Given the description of an element on the screen output the (x, y) to click on. 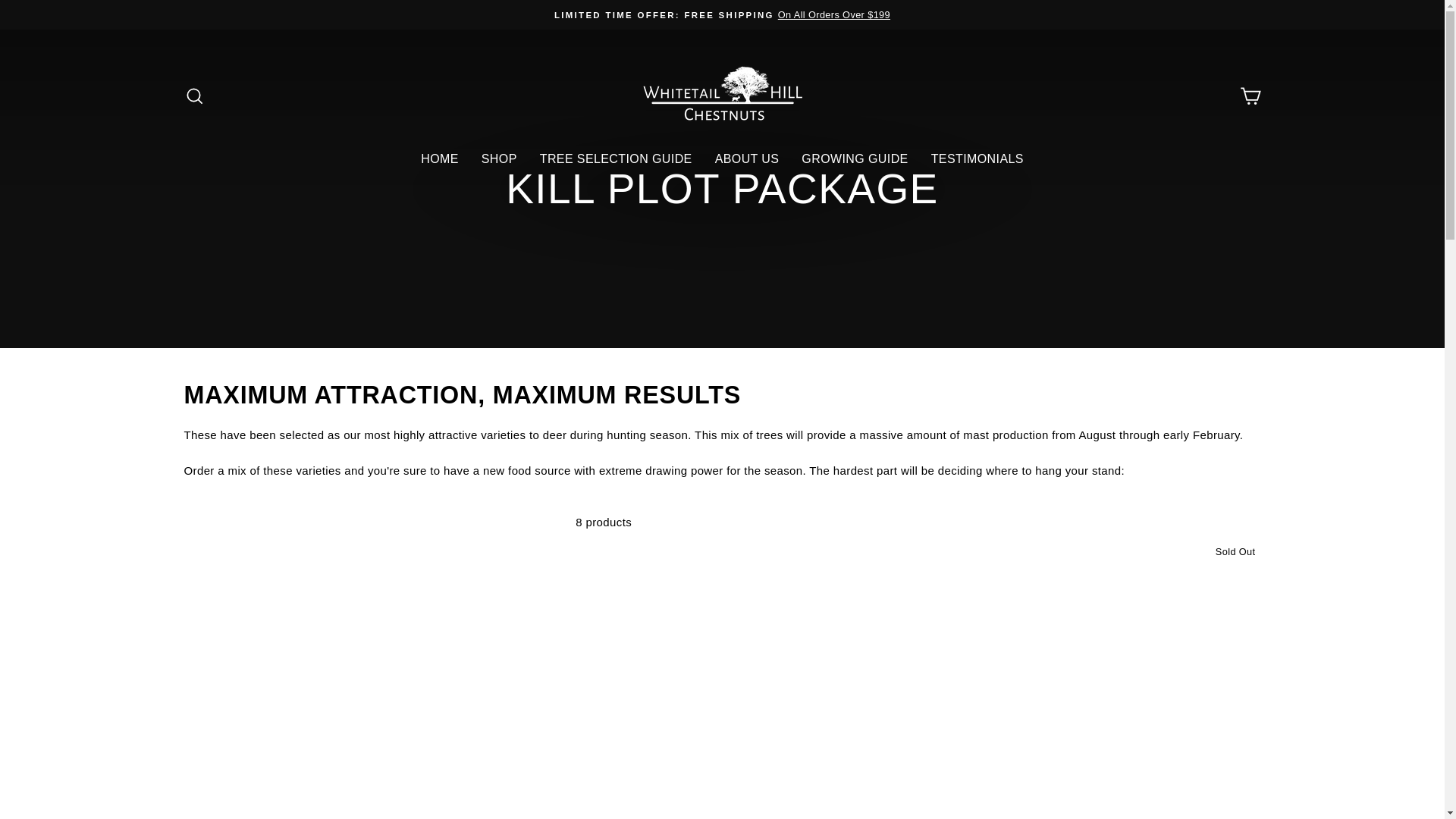
ABOUT US (746, 158)
HOME (439, 158)
SHOP (499, 158)
SEARCH (194, 95)
TREE SELECTION GUIDE (615, 158)
GROWING GUIDE (854, 158)
CART (1249, 95)
TESTIMONIALS (977, 158)
